Given the description of an element on the screen output the (x, y) to click on. 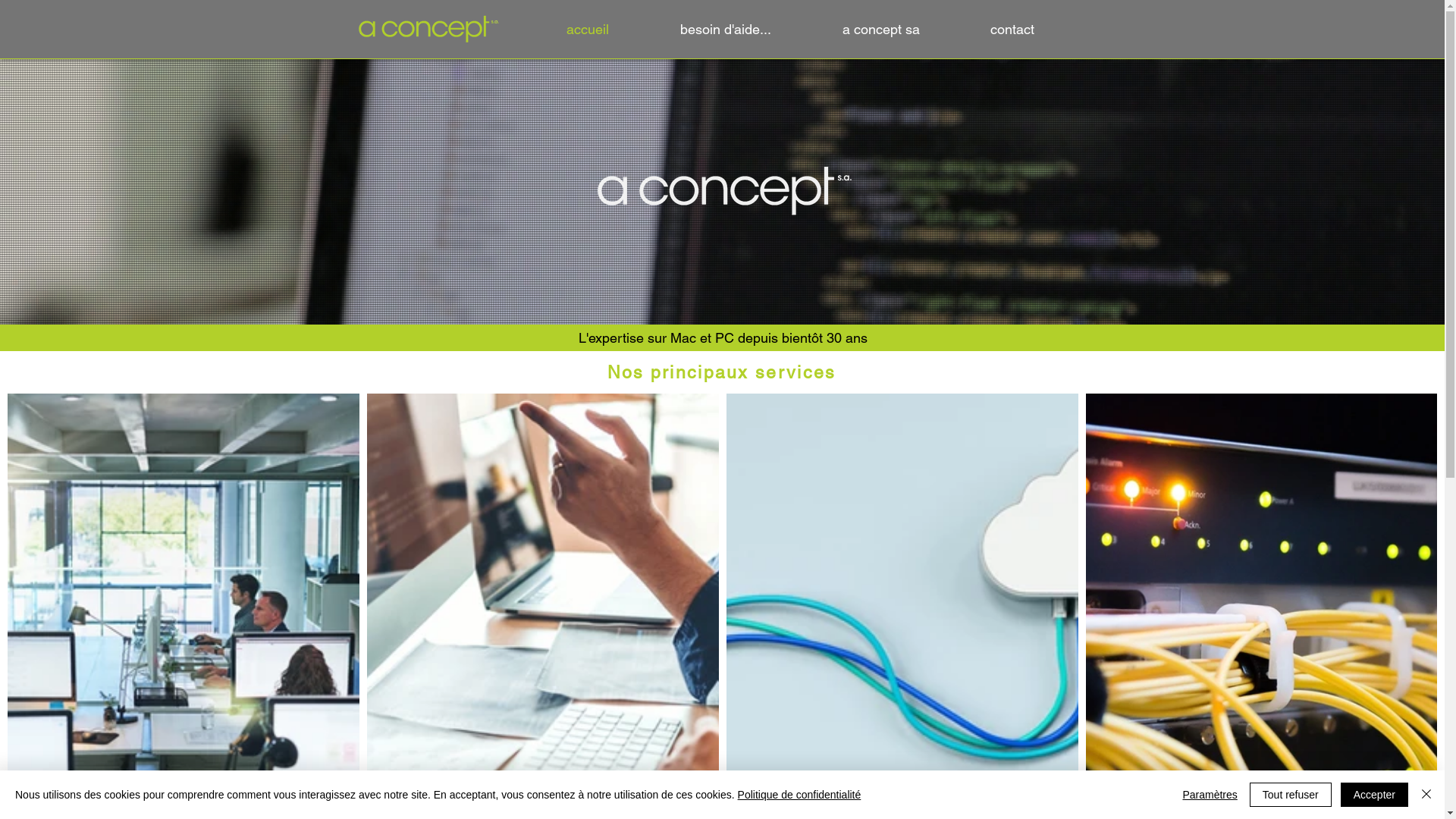
besoin d'aide... Element type: text (749, 29)
contact Element type: text (1035, 29)
Tout refuser Element type: text (1290, 794)
Accepter Element type: text (1374, 794)
accueil Element type: text (611, 29)
